Given the description of an element on the screen output the (x, y) to click on. 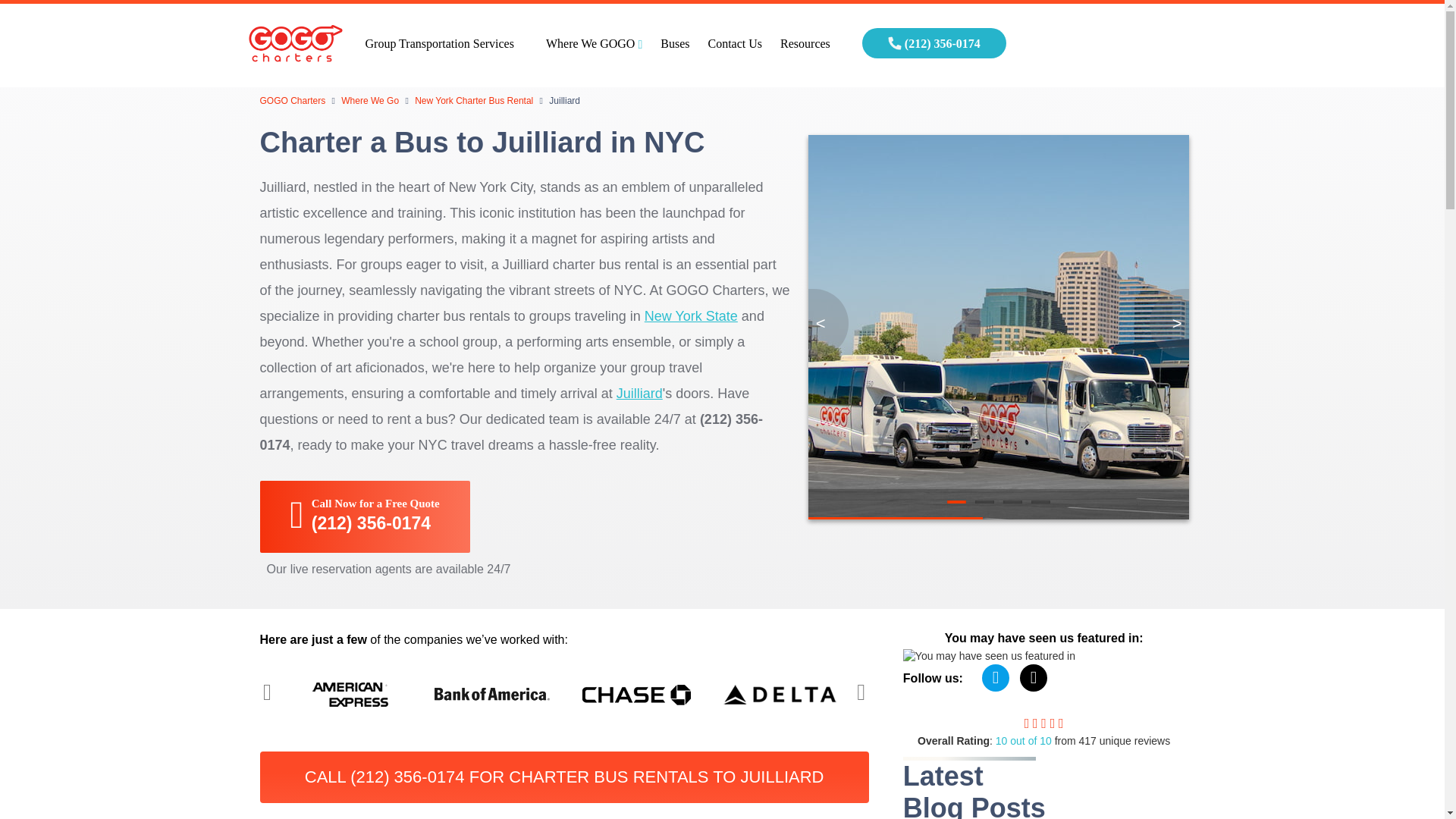
American Express (350, 694)
Where We GOGO (594, 45)
Bank of America (493, 694)
Delta (780, 694)
Chase (636, 694)
Group Transportation Services (446, 45)
